Given the description of an element on the screen output the (x, y) to click on. 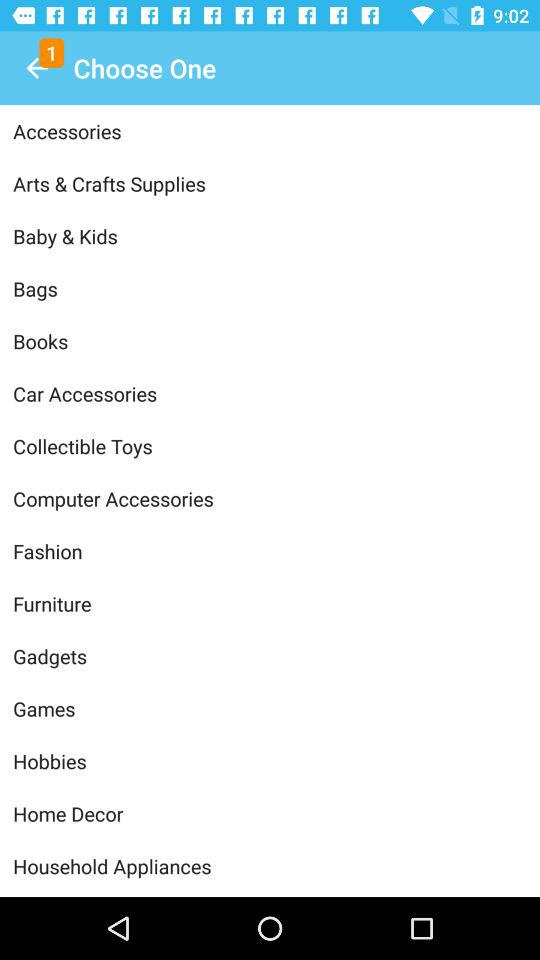
scroll until the collectible toys item (269, 446)
